Given the description of an element on the screen output the (x, y) to click on. 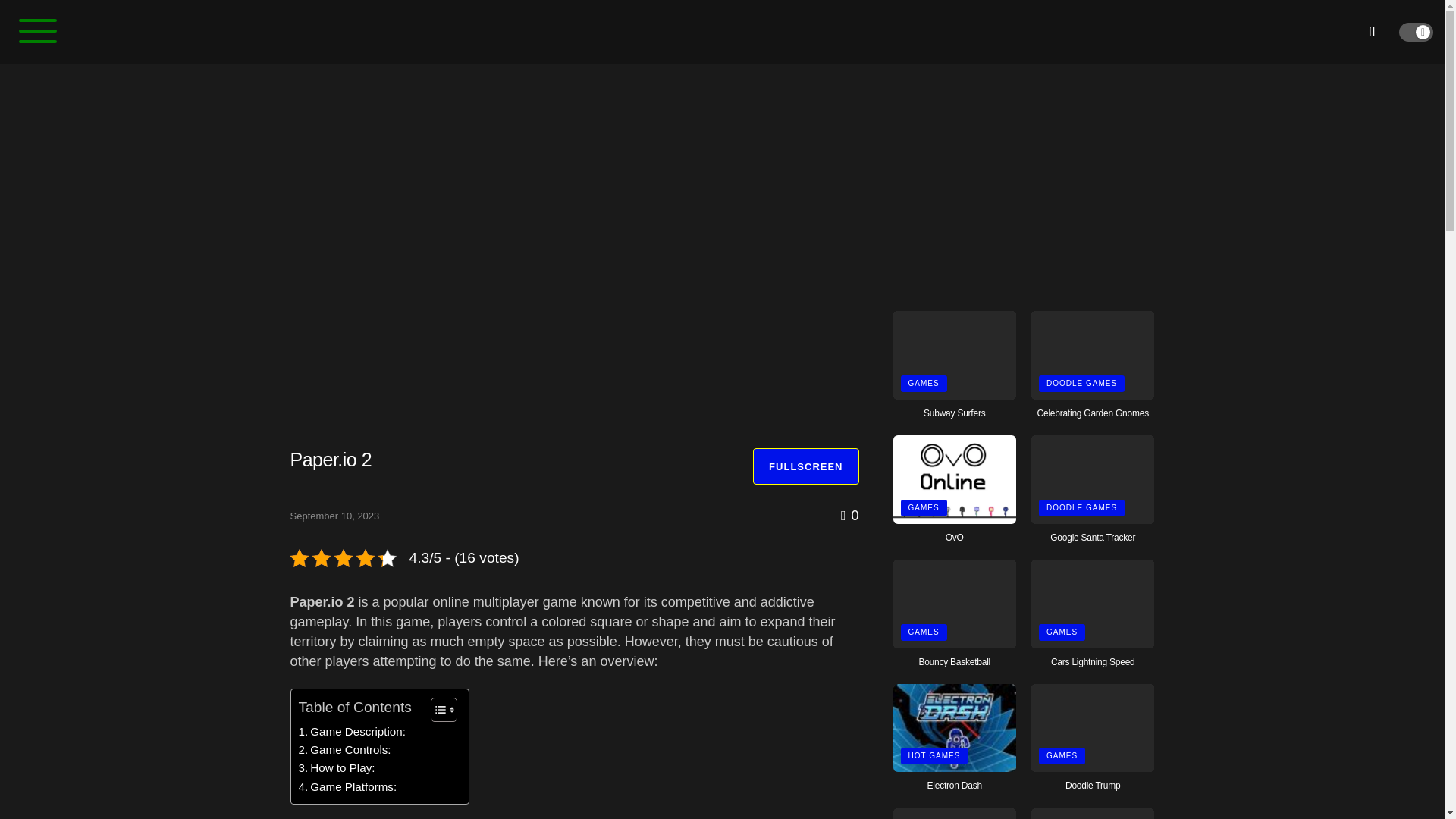
Game Description: (352, 731)
Game Description: (352, 731)
Game Controls: (344, 750)
Advertisement (1023, 181)
How to Play: (336, 768)
Game Controls: (344, 750)
0 (850, 515)
FULLSCREEN (805, 465)
Game Platforms: (347, 787)
September 10, 2023 (333, 515)
